Given the description of an element on the screen output the (x, y) to click on. 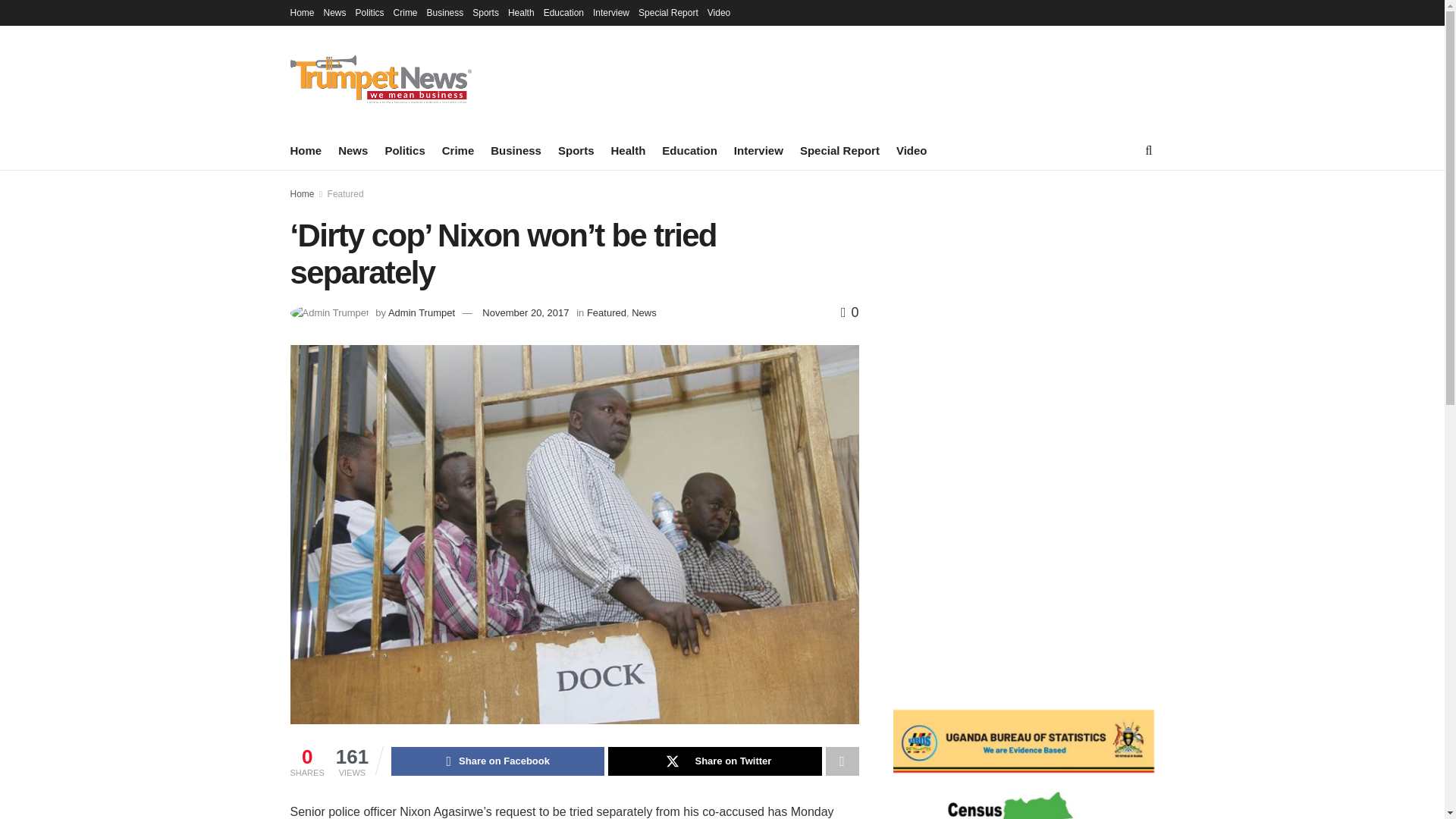
Crime (458, 150)
Special Report (668, 12)
Crime (405, 12)
Special Report (839, 150)
Interview (758, 150)
Home (301, 12)
Politics (404, 150)
Video (911, 150)
Health (521, 12)
Business (445, 12)
Politics (369, 12)
Education (563, 12)
Advertisement (1023, 563)
Health (627, 150)
Education (689, 150)
